Given the description of an element on the screen output the (x, y) to click on. 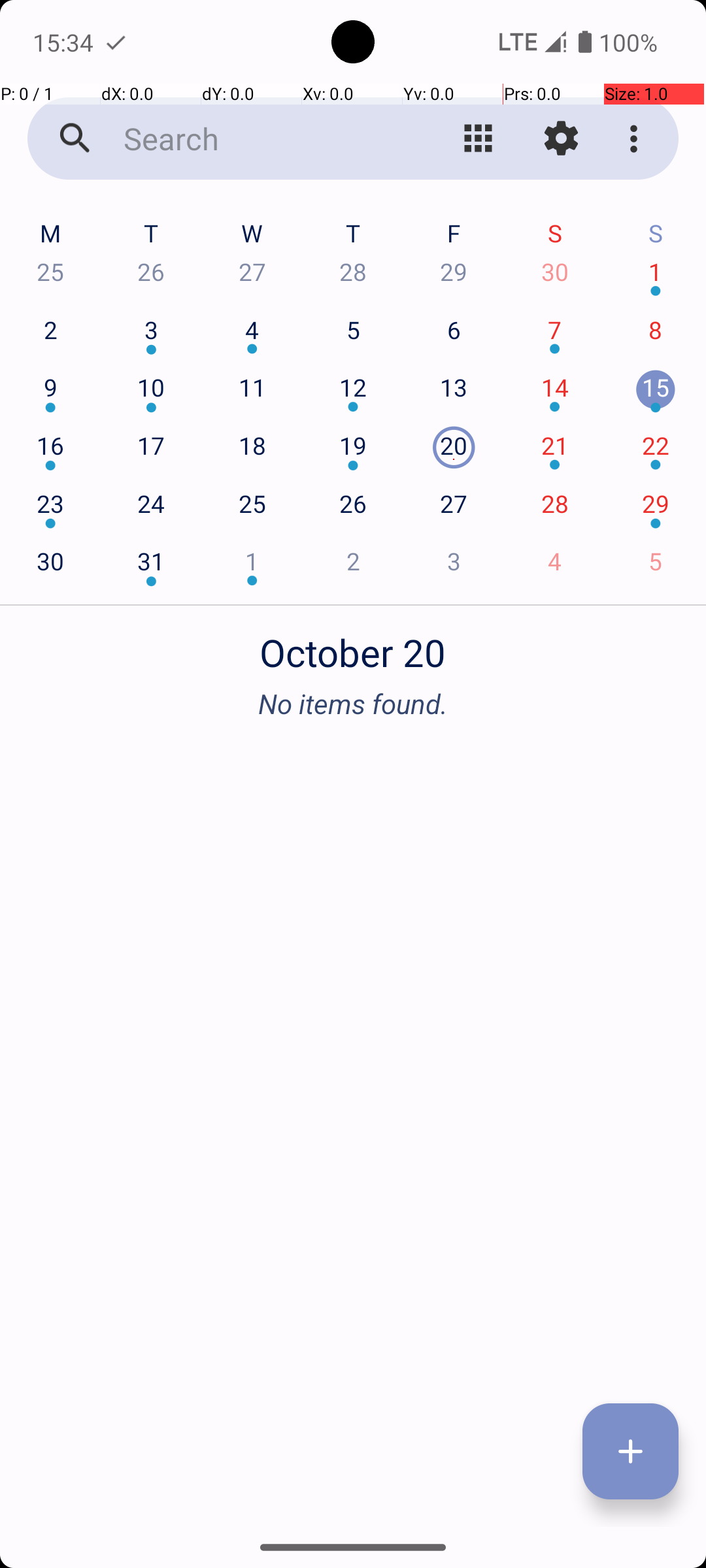
October 20 Element type: android.widget.TextView (352, 644)
